Given the description of an element on the screen output the (x, y) to click on. 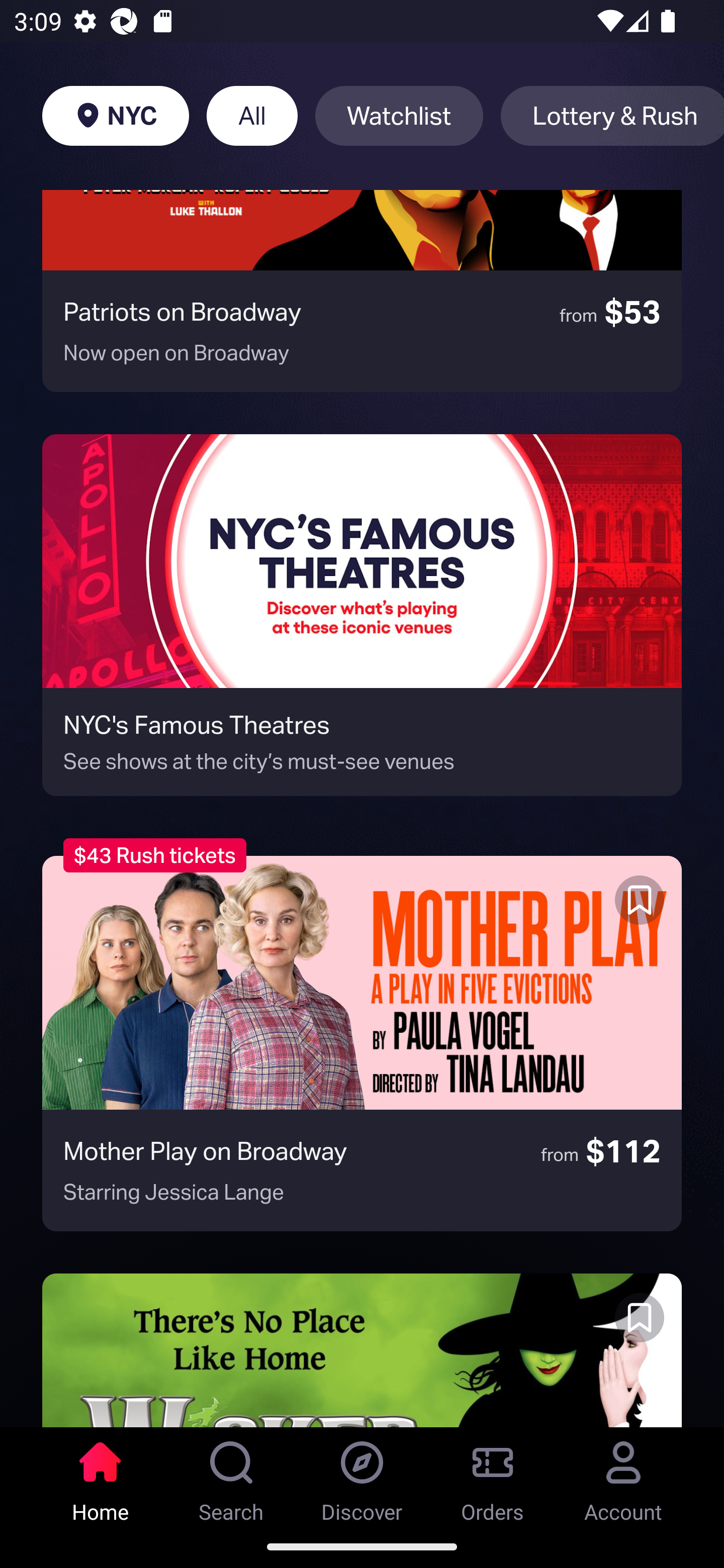
NYC (114, 115)
All (251, 115)
Watchlist (398, 115)
Lottery & Rush (612, 115)
Patriots on Broadway from $53 Now open on Broadway (361, 290)
Search (230, 1475)
Discover (361, 1475)
Orders (492, 1475)
Account (623, 1475)
